Given the description of an element on the screen output the (x, y) to click on. 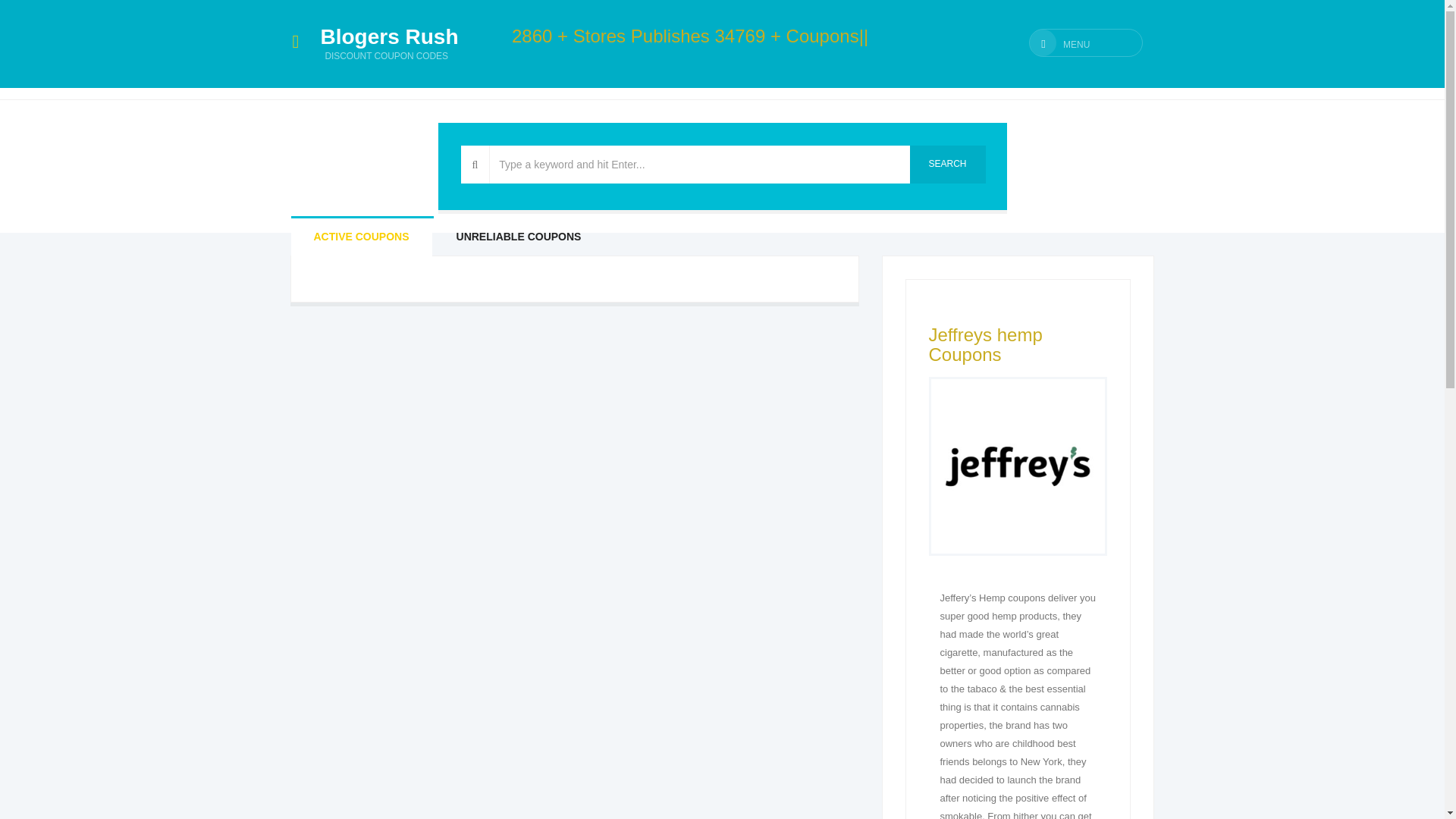
SEARCH (947, 164)
ACTIVE COUPONS (361, 237)
UNRELIABLE COUPONS (389, 30)
